Given the description of an element on the screen output the (x, y) to click on. 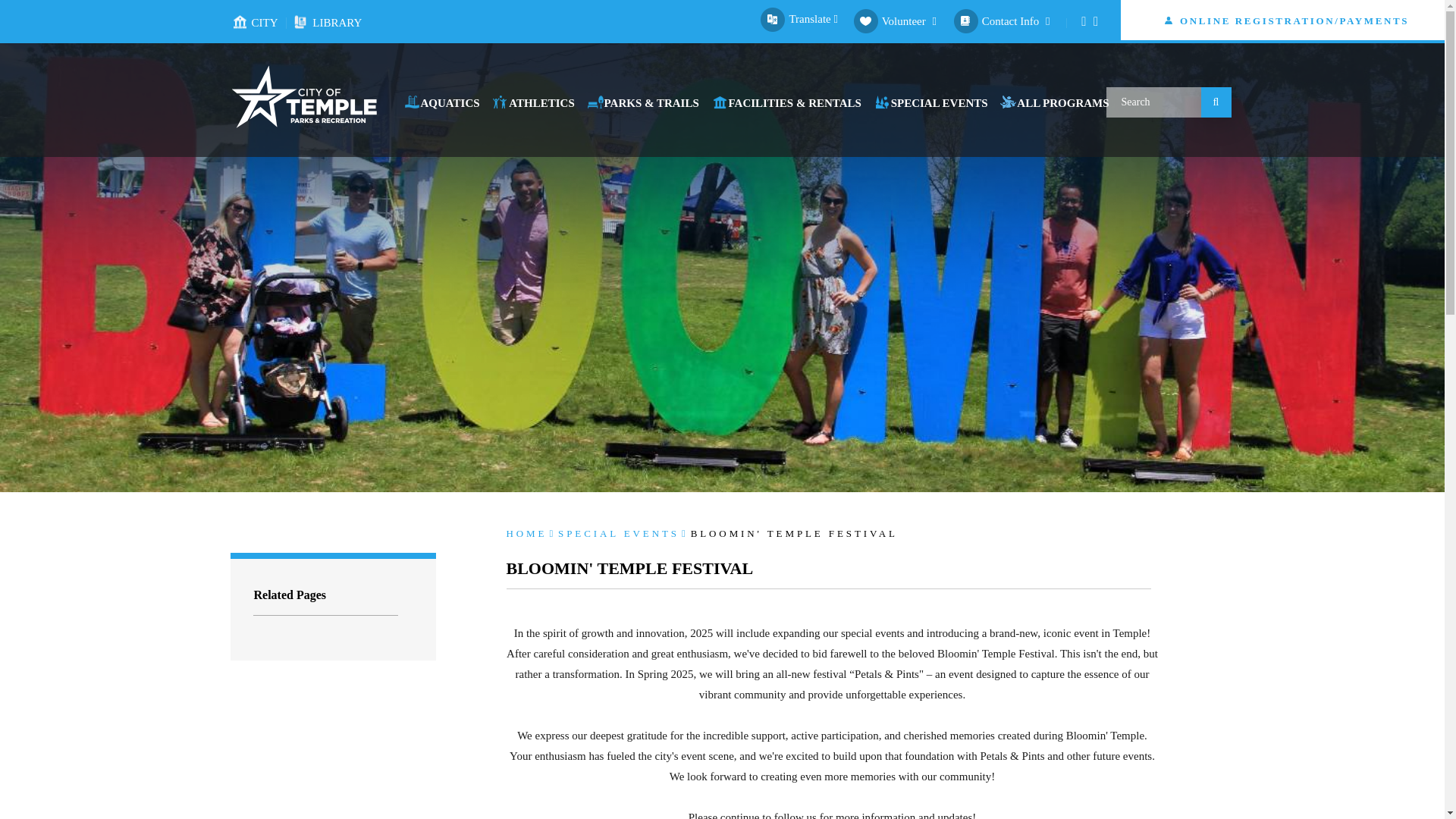
Translate (799, 19)
LIBRARY (334, 21)
CITY (262, 21)
